Given the description of an element on the screen output the (x, y) to click on. 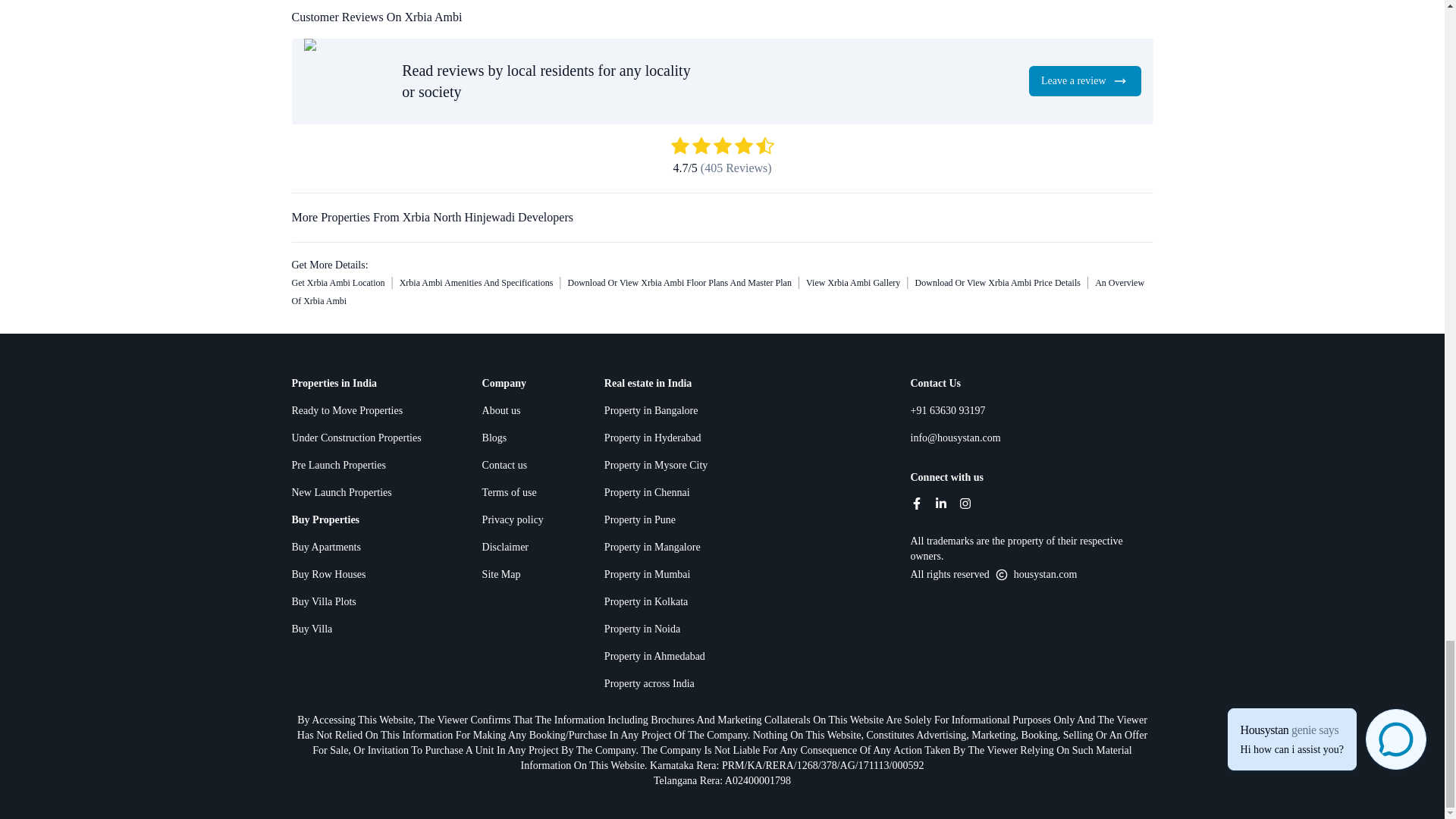
Linkedin (940, 503)
Download Or View Xrbia Ambi Floor Plans And Master Plan (679, 282)
instagram (964, 503)
Facebook (915, 503)
Download Or View Xrbia Ambi Price Details (997, 282)
Xrbia Ambi Amenities And Specifications (475, 282)
Get Xrbia Ambi Location (337, 282)
An Overview Of Xrbia Ambi (717, 291)
View Xrbia Ambi Gallery (852, 282)
